Given the description of an element on the screen output the (x, y) to click on. 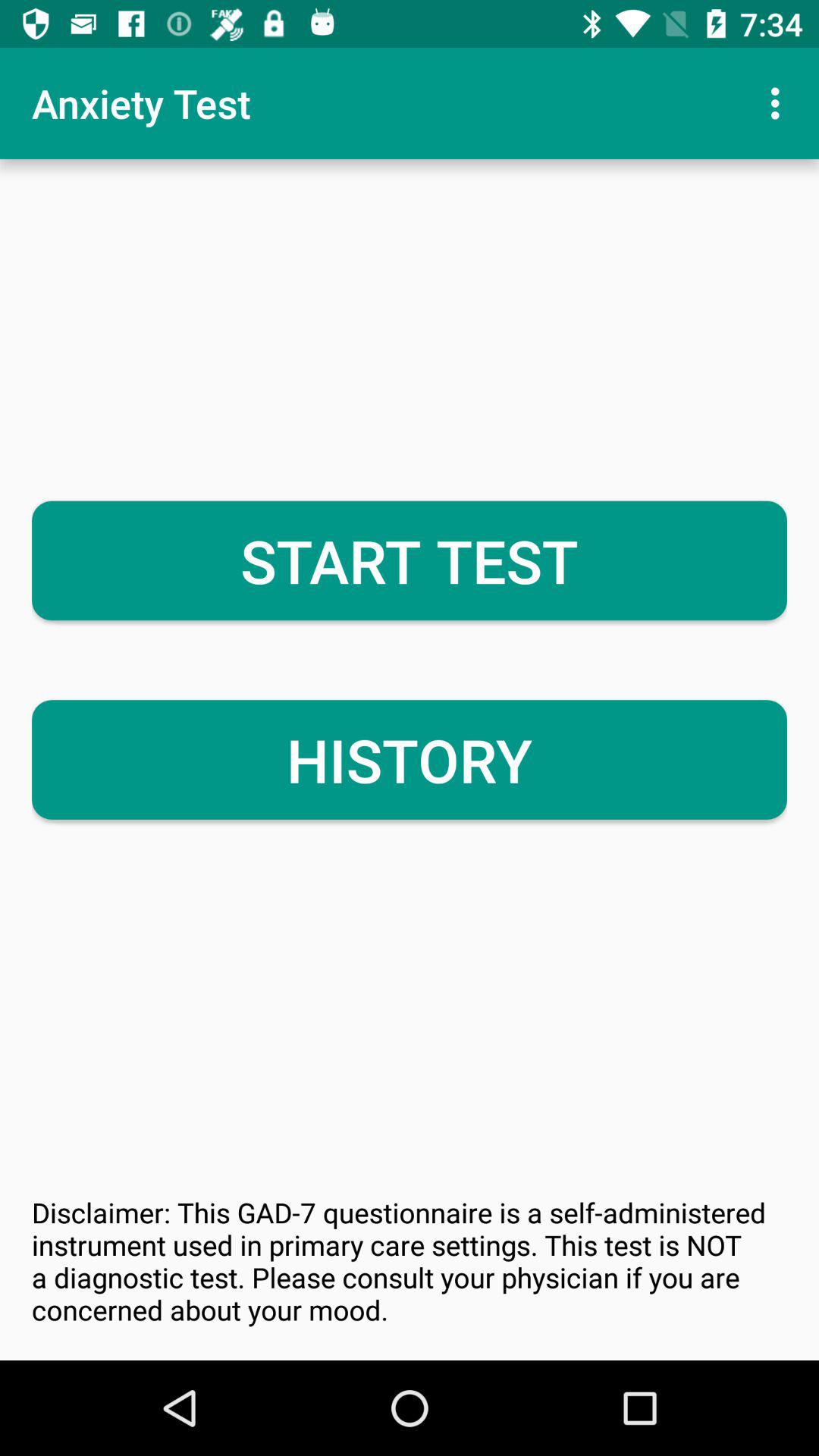
flip to start test (409, 560)
